Given the description of an element on the screen output the (x, y) to click on. 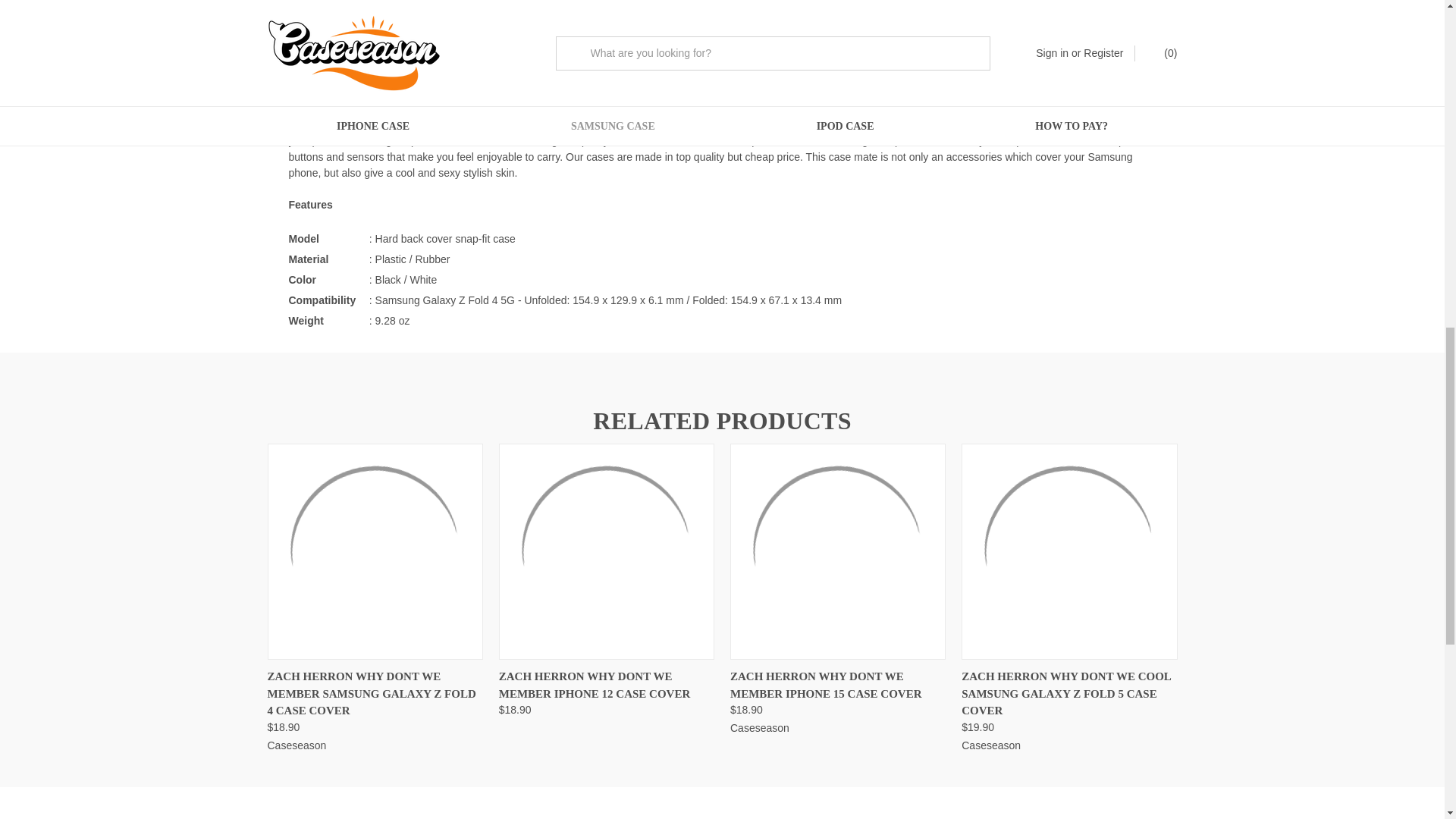
ZACH HERRON WHY DONT WE MEMBER iPhone 15 Case Cover (837, 551)
ZACH HERRON WHY DONT WE MEMBER iPhone 12 Case Cover (606, 551)
